Given the description of an element on the screen output the (x, y) to click on. 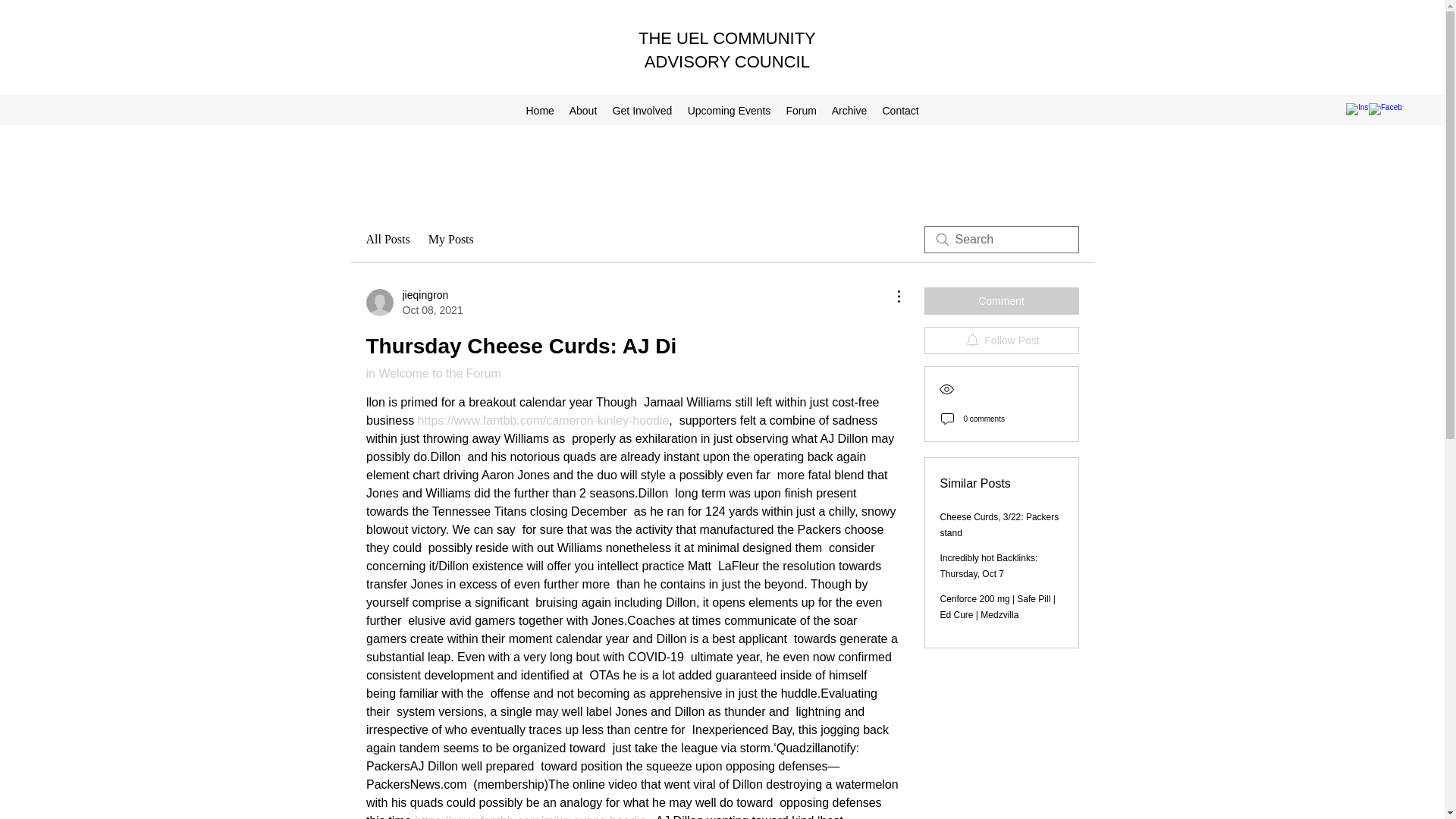
Upcoming Events (728, 110)
Forum (800, 110)
Incredibly hot Backlinks: Thursday, Oct 7 (989, 565)
Get Involved (641, 110)
All Posts (387, 239)
My Posts (451, 239)
Home (539, 110)
in Welcome to the Forum (432, 373)
Follow Post (1000, 339)
Archive (849, 110)
